Given the description of an element on the screen output the (x, y) to click on. 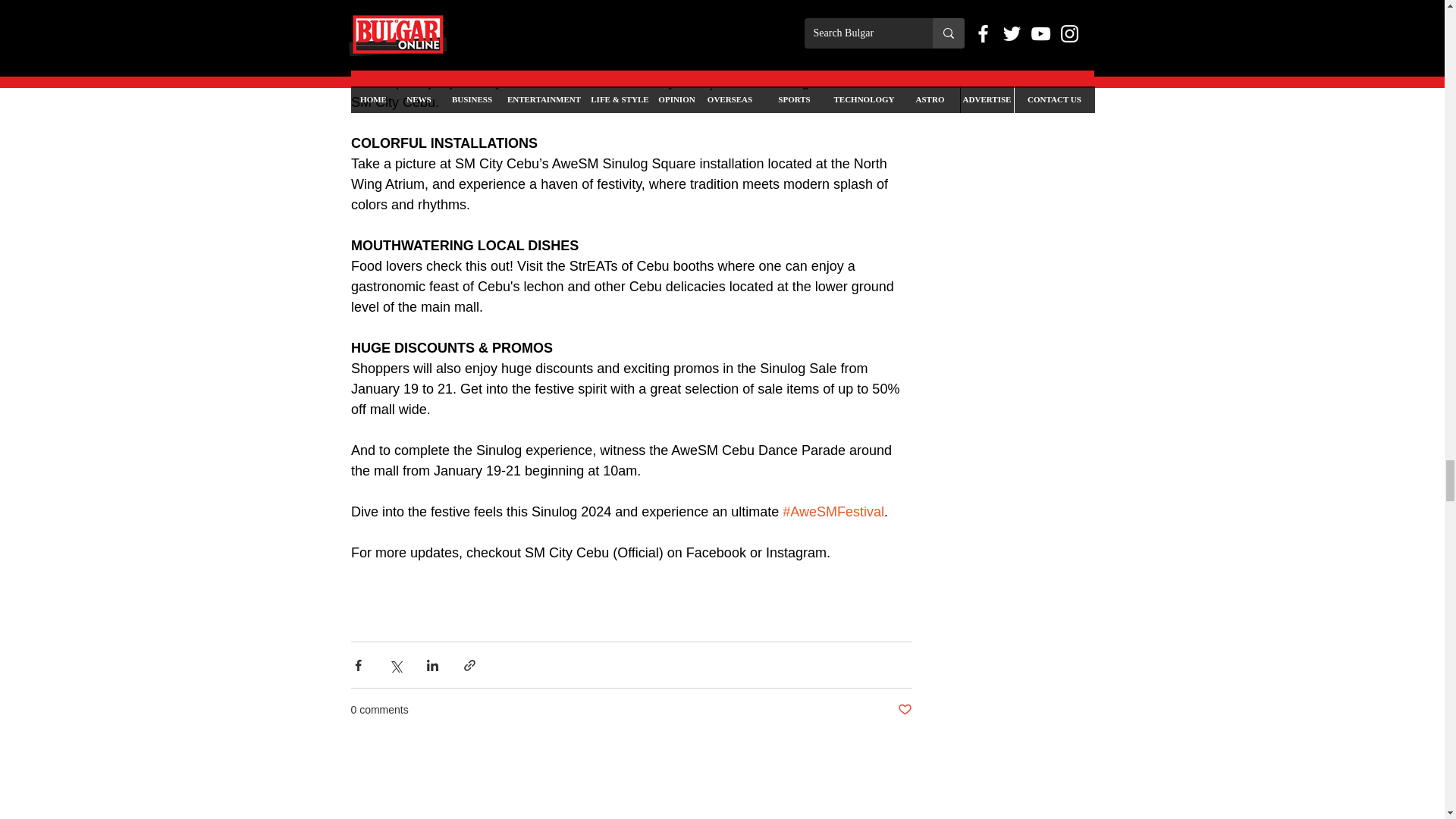
0 comments (378, 709)
Post not marked as liked (905, 709)
